Given the description of an element on the screen output the (x, y) to click on. 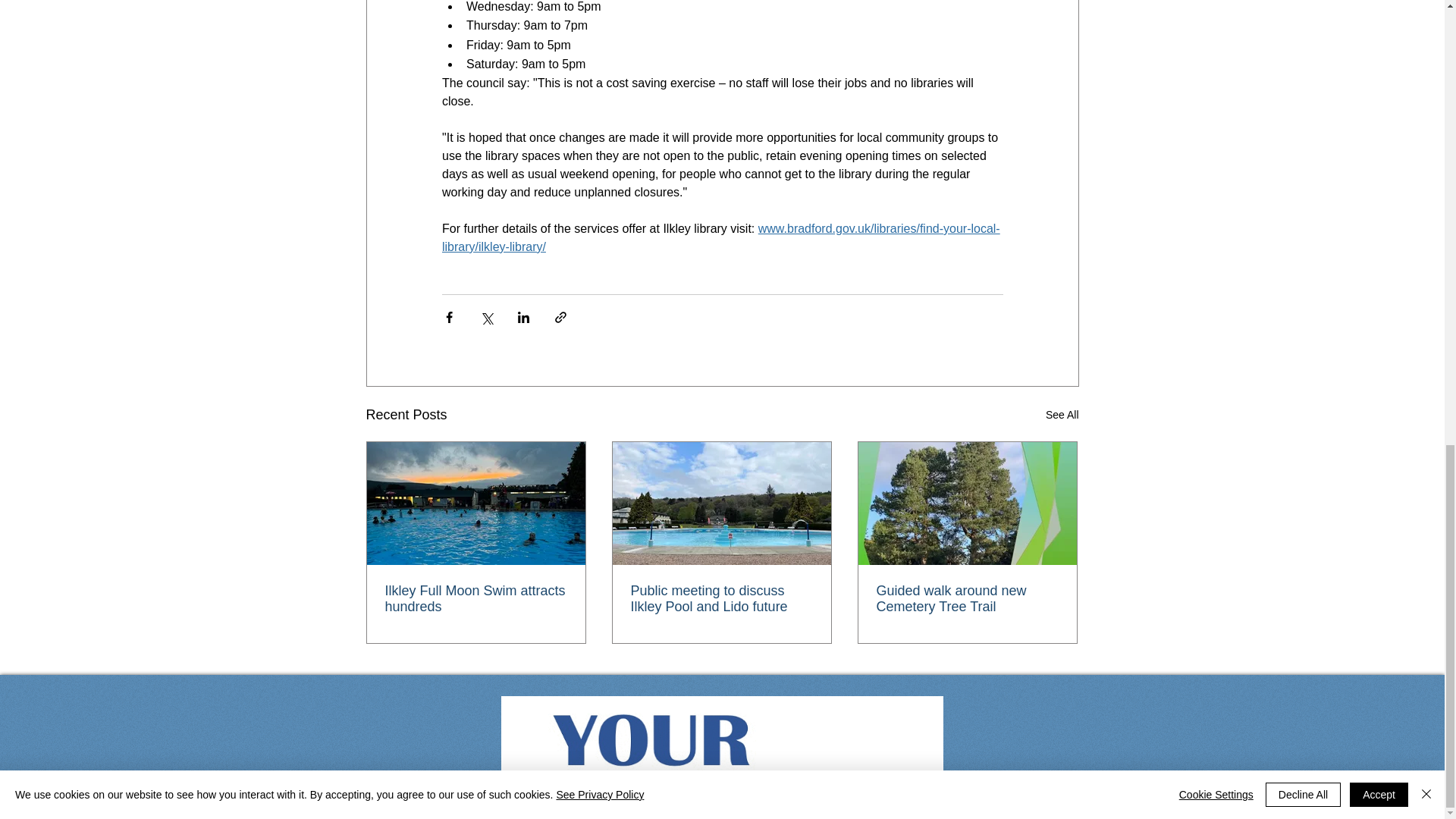
Guided walk around new Cemetery Tree Trail (967, 599)
Ilkley Full Moon Swim attracts hundreds (476, 599)
See All (1061, 414)
Public meeting to discuss Ilkley Pool and Lido future (721, 599)
